Given the description of an element on the screen output the (x, y) to click on. 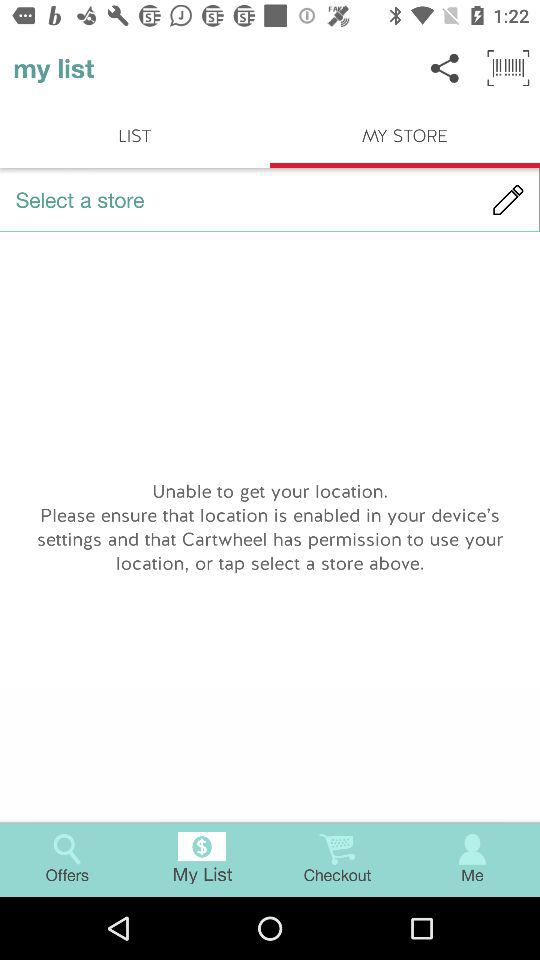
select item below list item (270, 199)
